Given the description of an element on the screen output the (x, y) to click on. 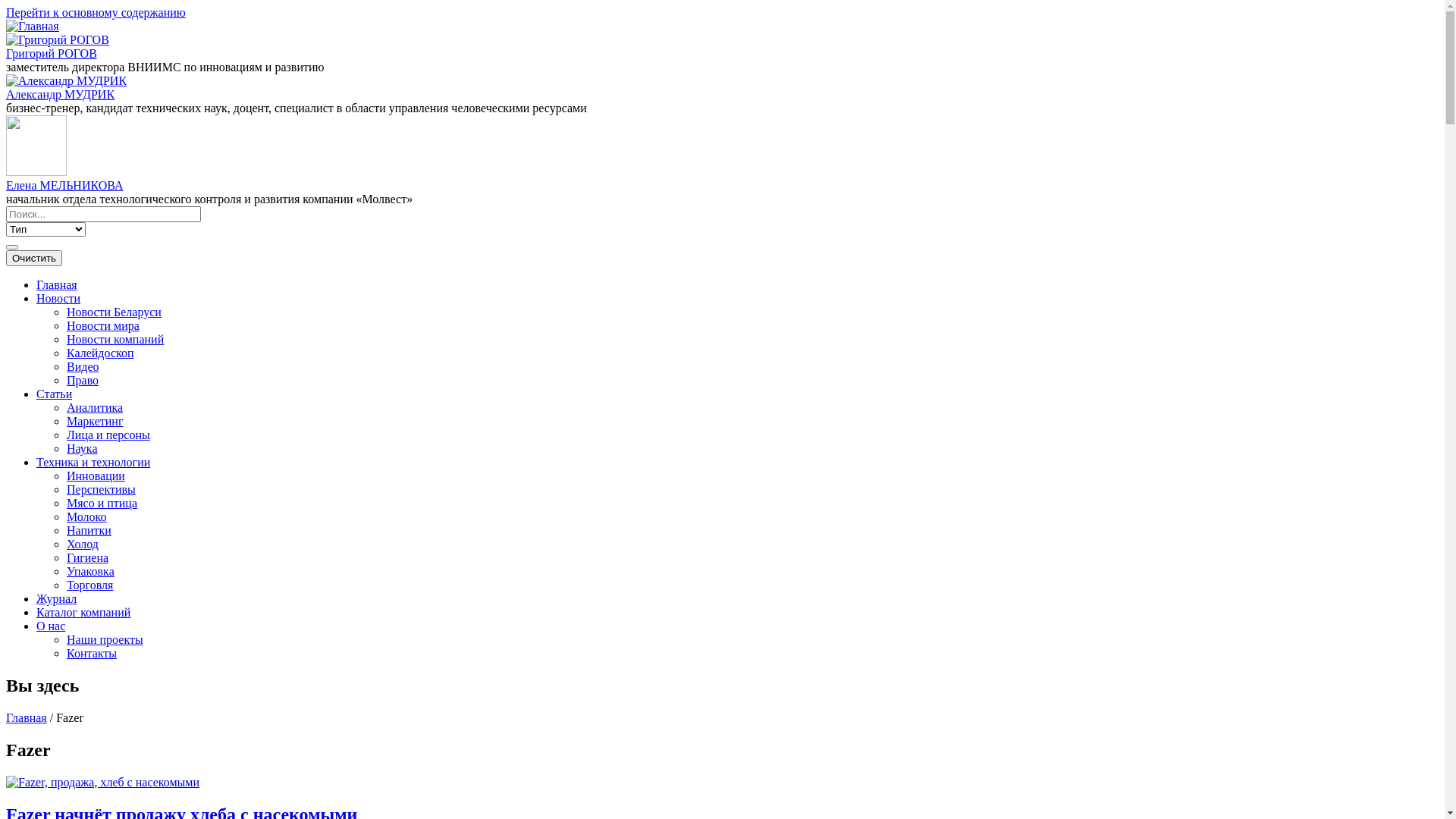
<i class="fa fa-search"></i> Element type: text (12, 246)
